Given the description of an element on the screen output the (x, y) to click on. 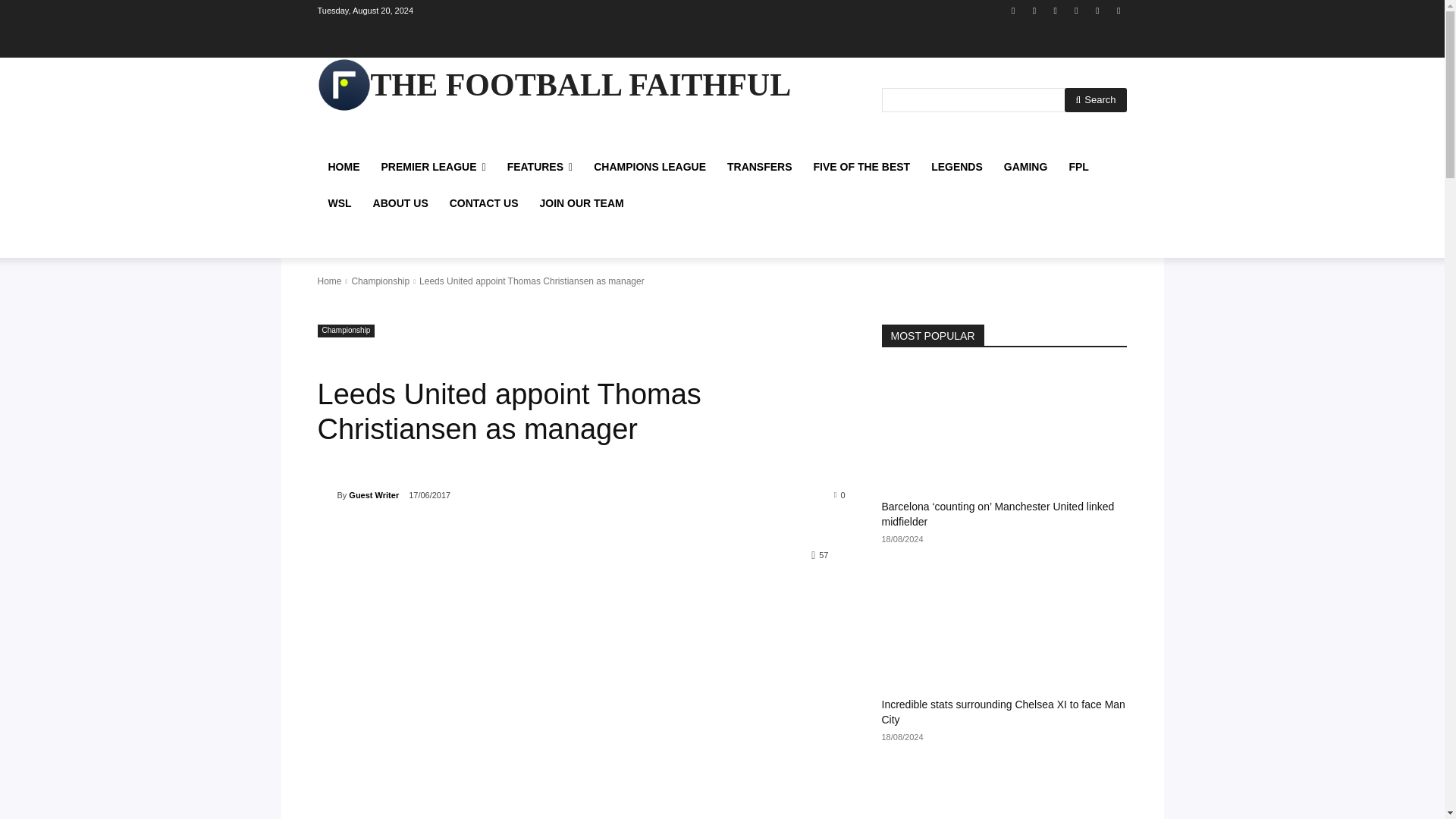
Twitter (1097, 9)
Youtube (1117, 9)
Facebook (1013, 9)
Instagram (1034, 9)
RSS (1055, 9)
TikTok (1075, 9)
